Given the description of an element on the screen output the (x, y) to click on. 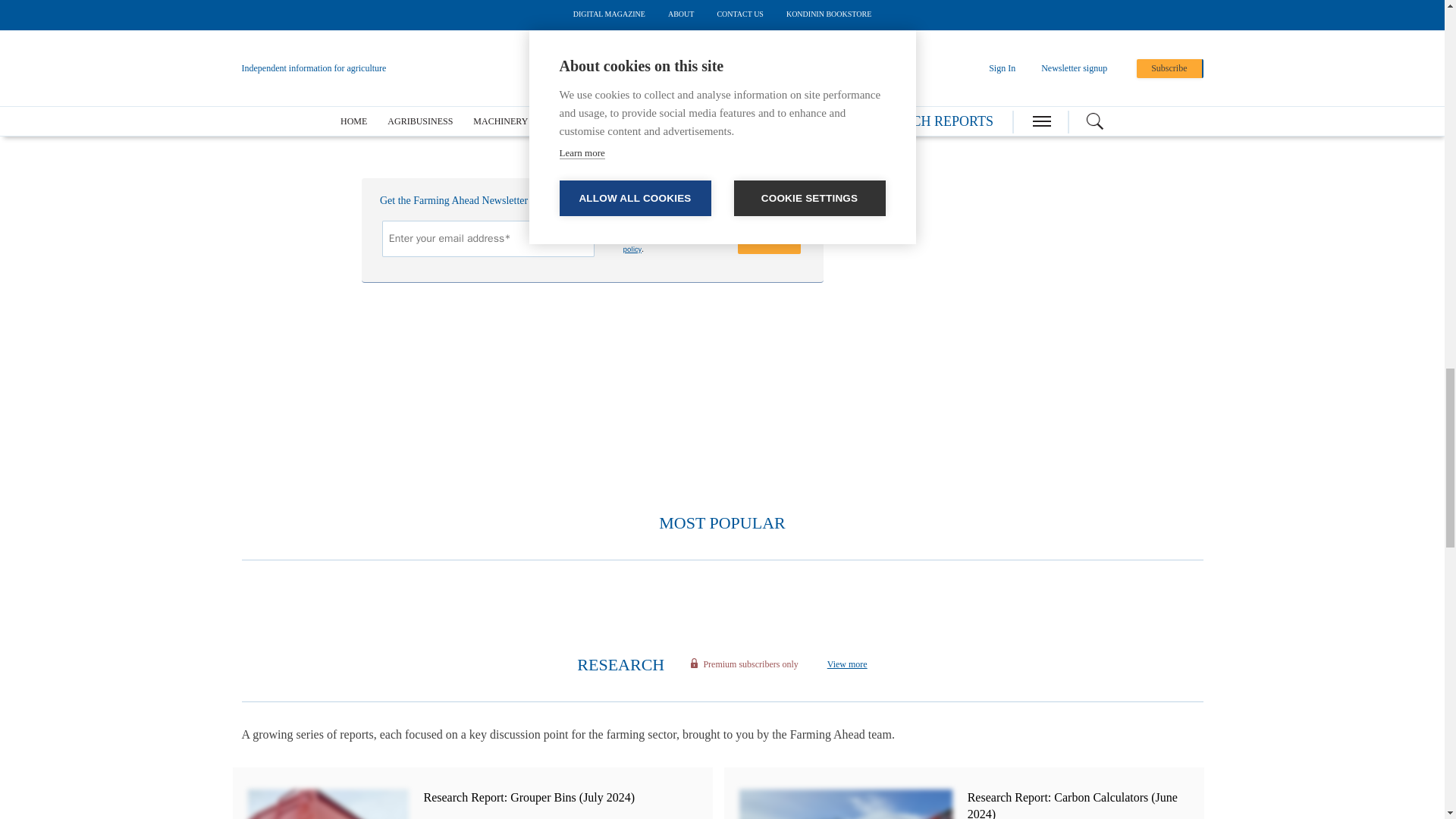
Submit (769, 236)
true (608, 229)
